Given the description of an element on the screen output the (x, y) to click on. 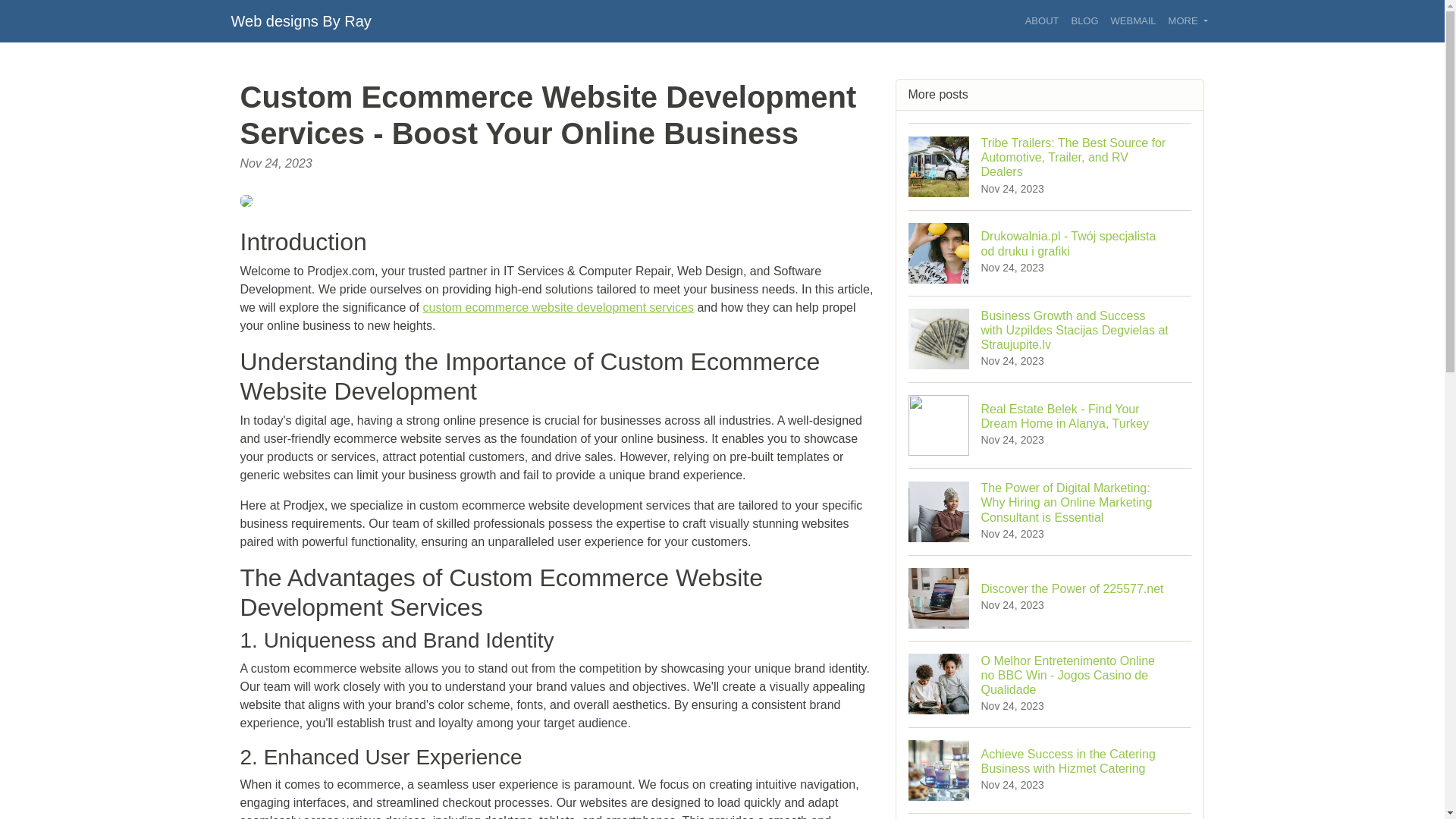
BLOG (1083, 21)
ABOUT (1042, 21)
WEBMAIL (1133, 21)
custom ecommerce website development services (1050, 816)
